Given the description of an element on the screen output the (x, y) to click on. 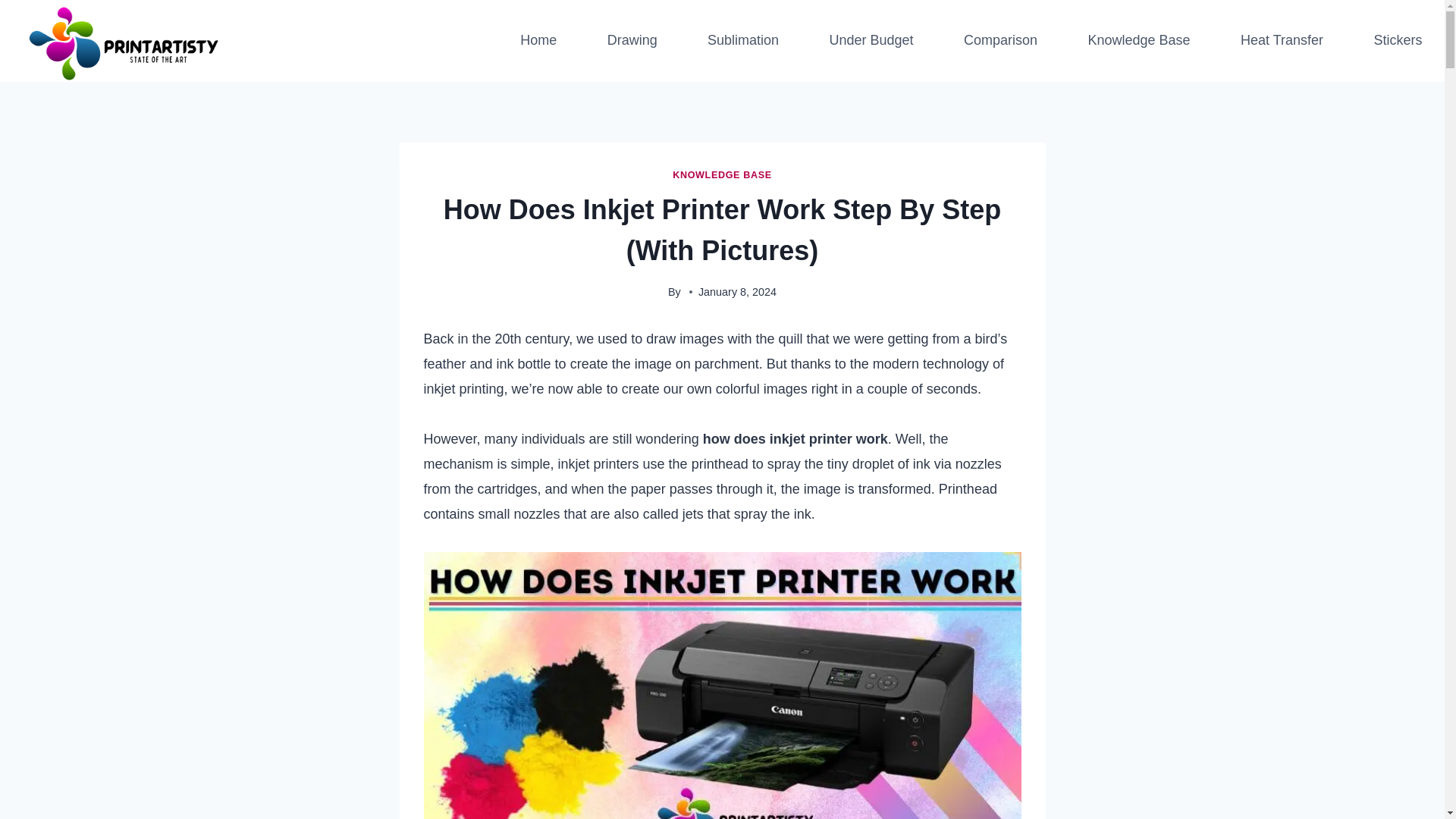
Under Budget (871, 40)
Drawing (631, 40)
Stickers (1398, 40)
Comparison (1000, 40)
Heat Transfer (1281, 40)
Sublimation (743, 40)
Knowledge Base (1138, 40)
KNOWLEDGE BASE (721, 174)
